Given the description of an element on the screen output the (x, y) to click on. 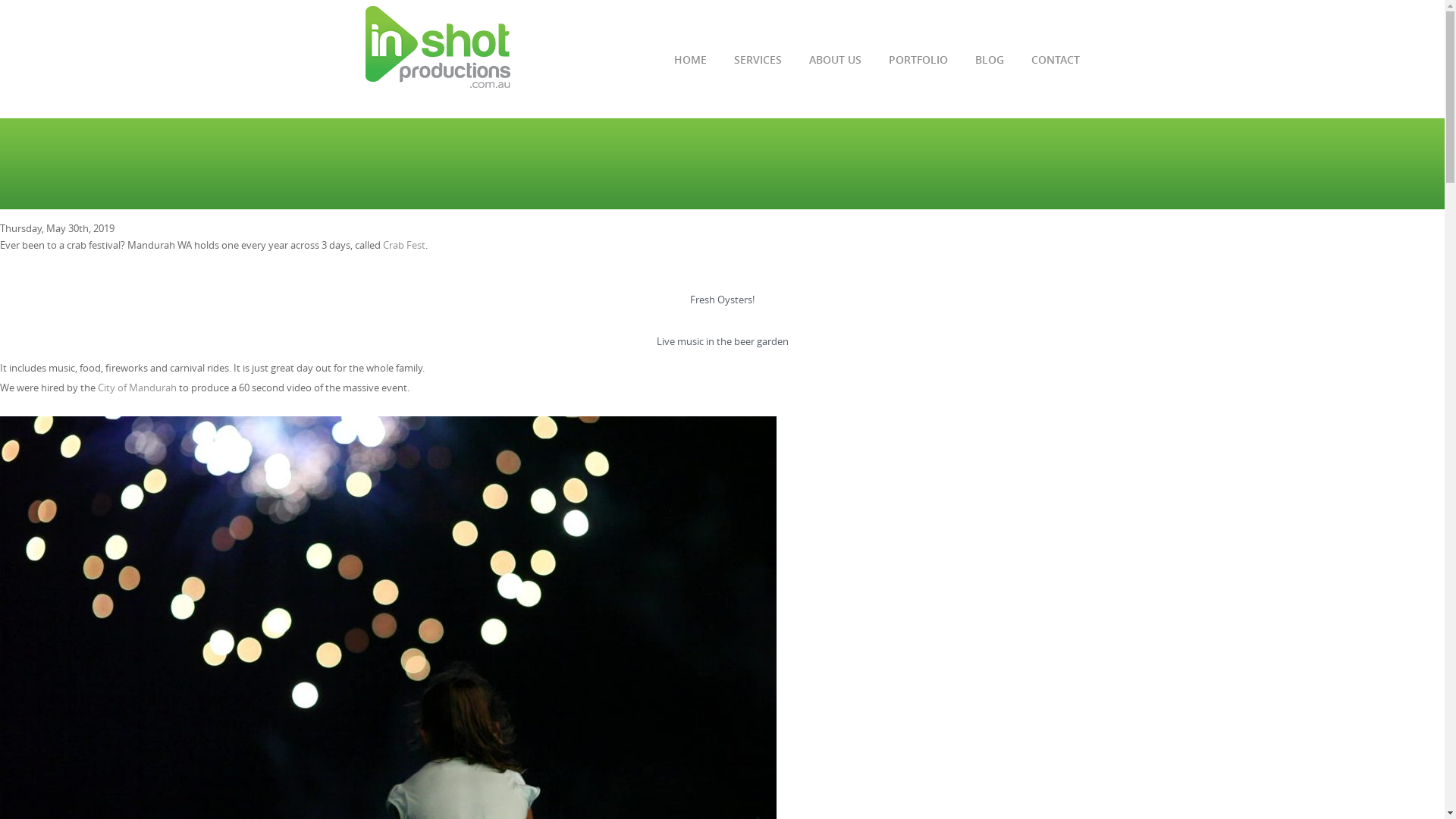
BLOG Element type: text (989, 67)
PORTFOLIO Element type: text (917, 67)
SERVICES Element type: text (757, 67)
CONTACT Element type: text (1055, 67)
In Shot Productions Element type: text (443, 51)
ABOUT US Element type: text (834, 67)
HOME Element type: text (689, 67)
Crab Fest Element type: text (403, 244)
City of Mandurah Element type: text (136, 387)
